Given the description of an element on the screen output the (x, y) to click on. 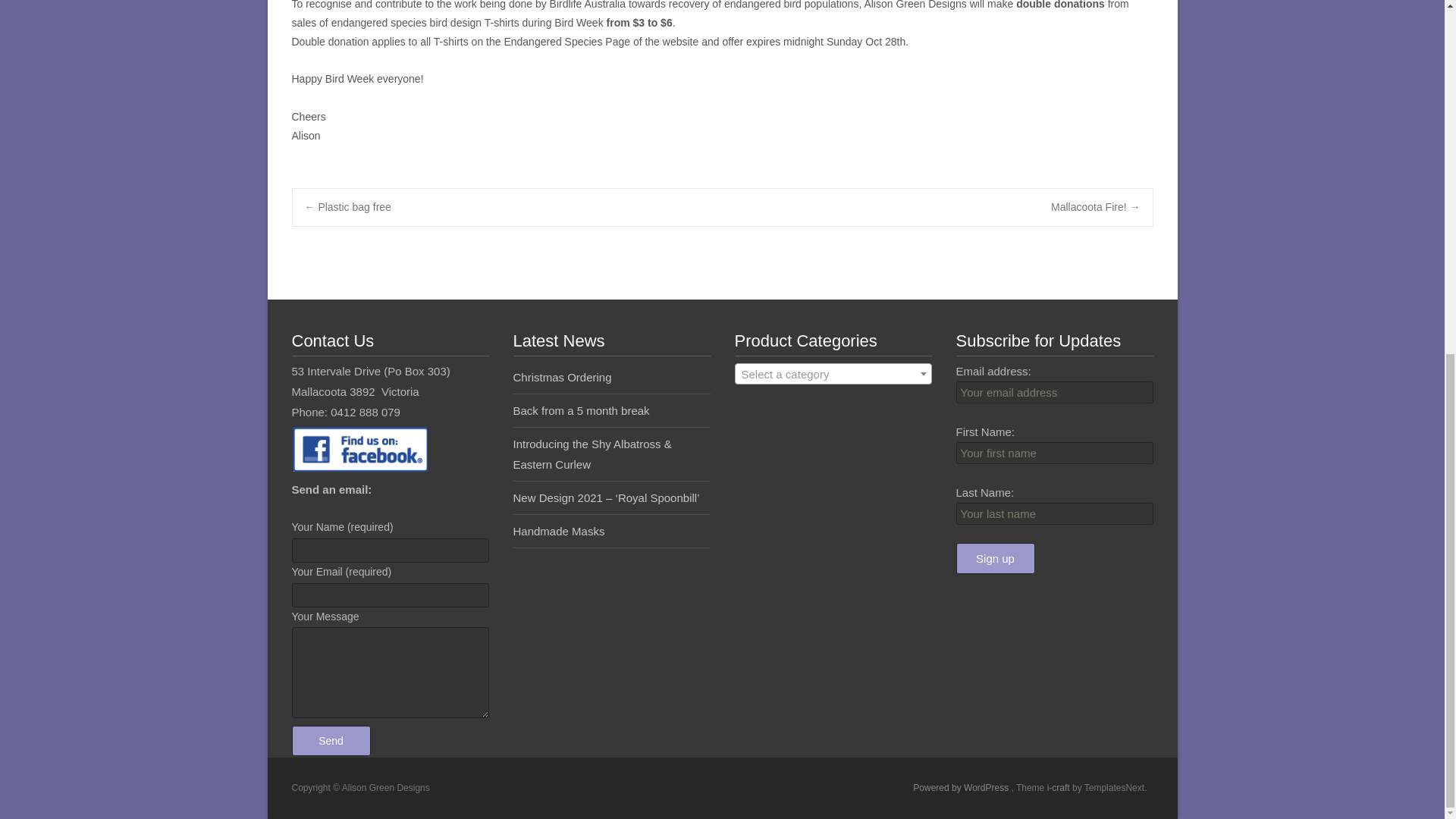
Back from a 5 month break (580, 410)
Sign up (994, 558)
Powered by WordPress (961, 787)
Send (330, 740)
Sign up (994, 558)
Semantic Personal Publishing Platform (961, 787)
Handmade Masks (558, 530)
Christmas Ordering (561, 377)
Send (330, 740)
WordPress WooCommerce Theme (1058, 787)
i-craft (1058, 787)
